Given the description of an element on the screen output the (x, y) to click on. 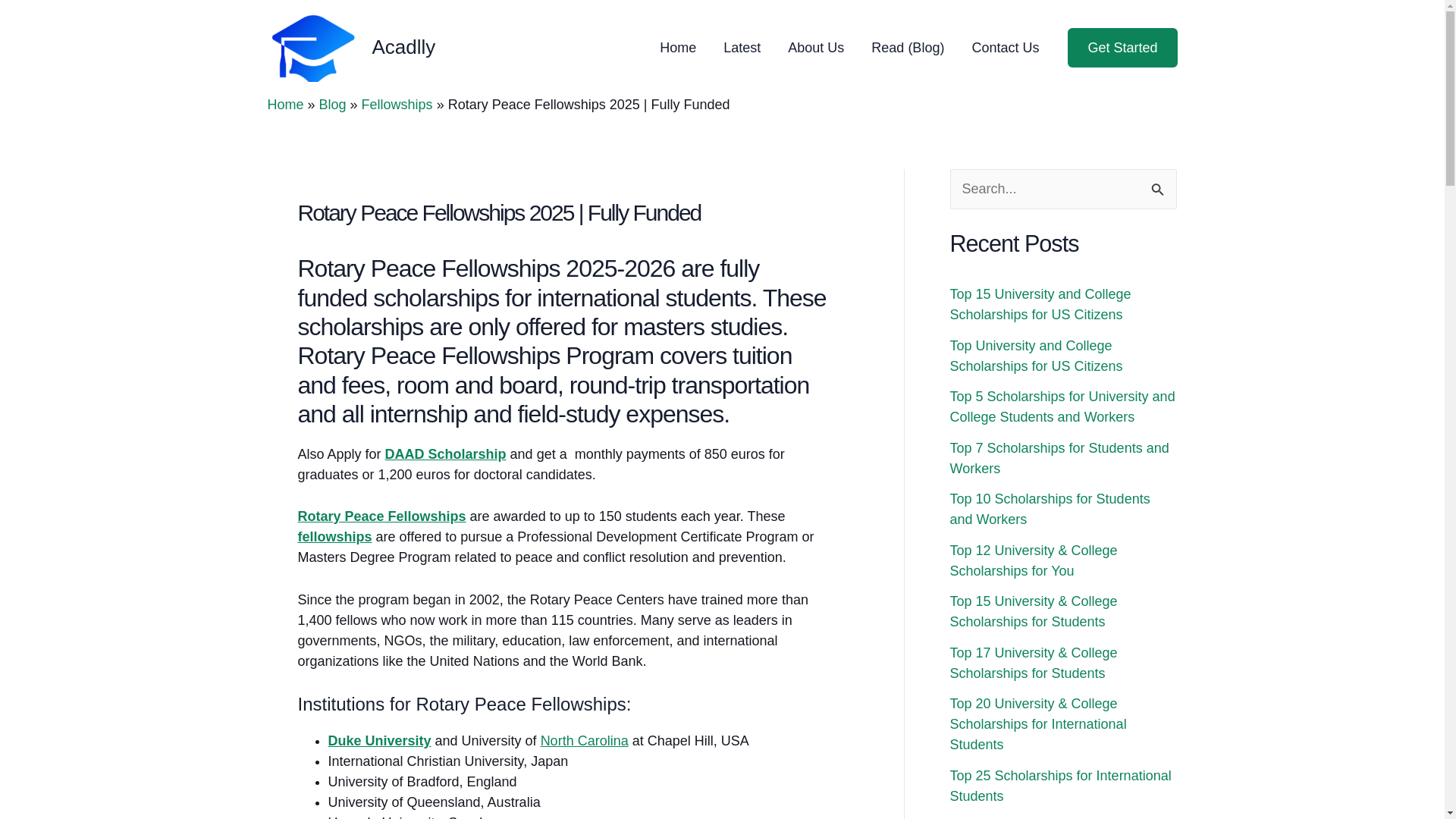
North Carolina (584, 740)
Home (284, 104)
Duke University (378, 740)
Rotary Peace Fellowships (381, 516)
Acadlly (403, 47)
Contact Us (1005, 47)
Get Started (1121, 47)
DAAD Scholarship (445, 453)
About Us (815, 47)
Search (1158, 185)
